Given the description of an element on the screen output the (x, y) to click on. 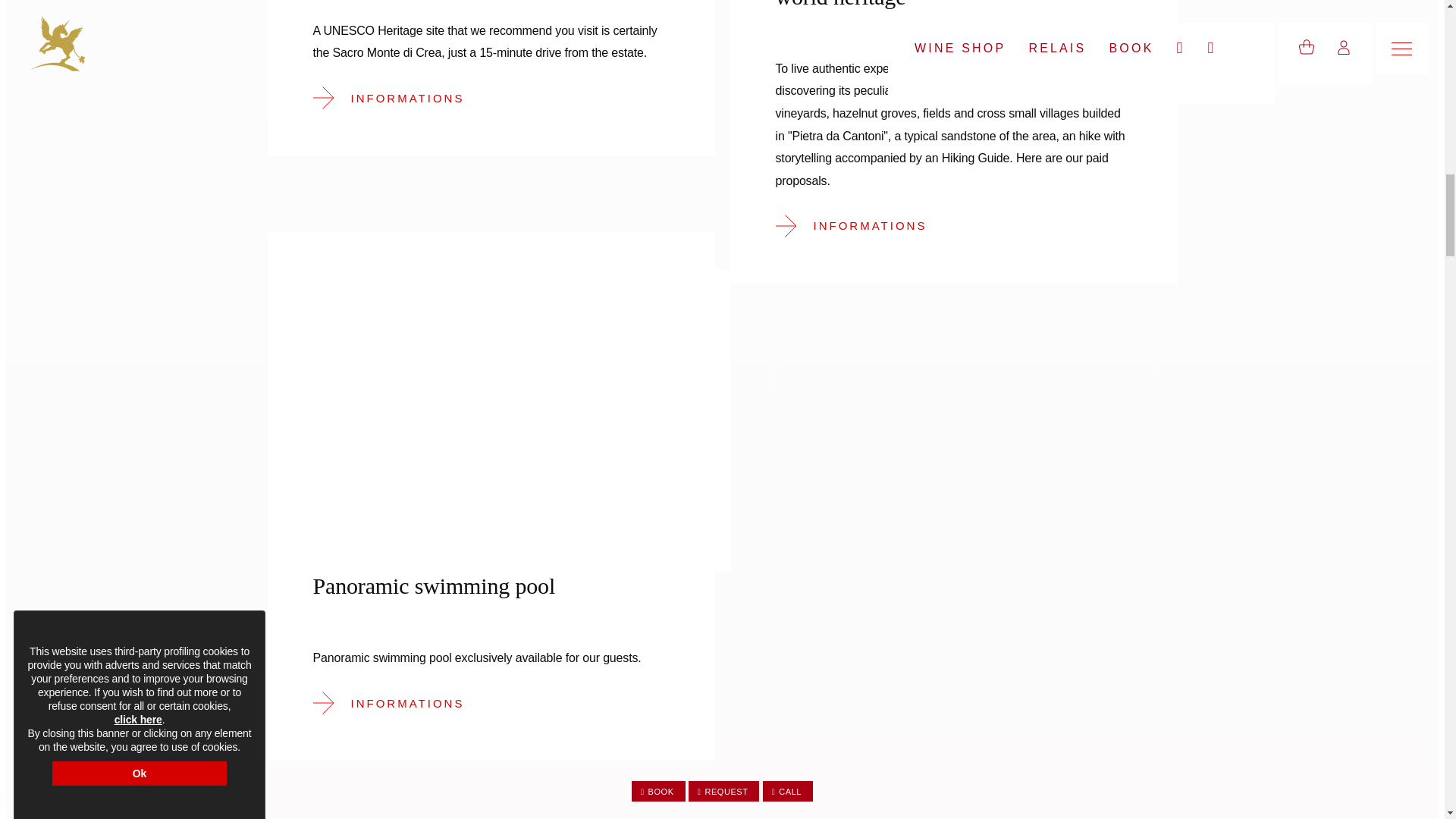
INFORMATIONS (399, 97)
INFORMATIONS (414, 513)
INFORMATIONS (399, 703)
INFORMATIONS (861, 225)
